Given the description of an element on the screen output the (x, y) to click on. 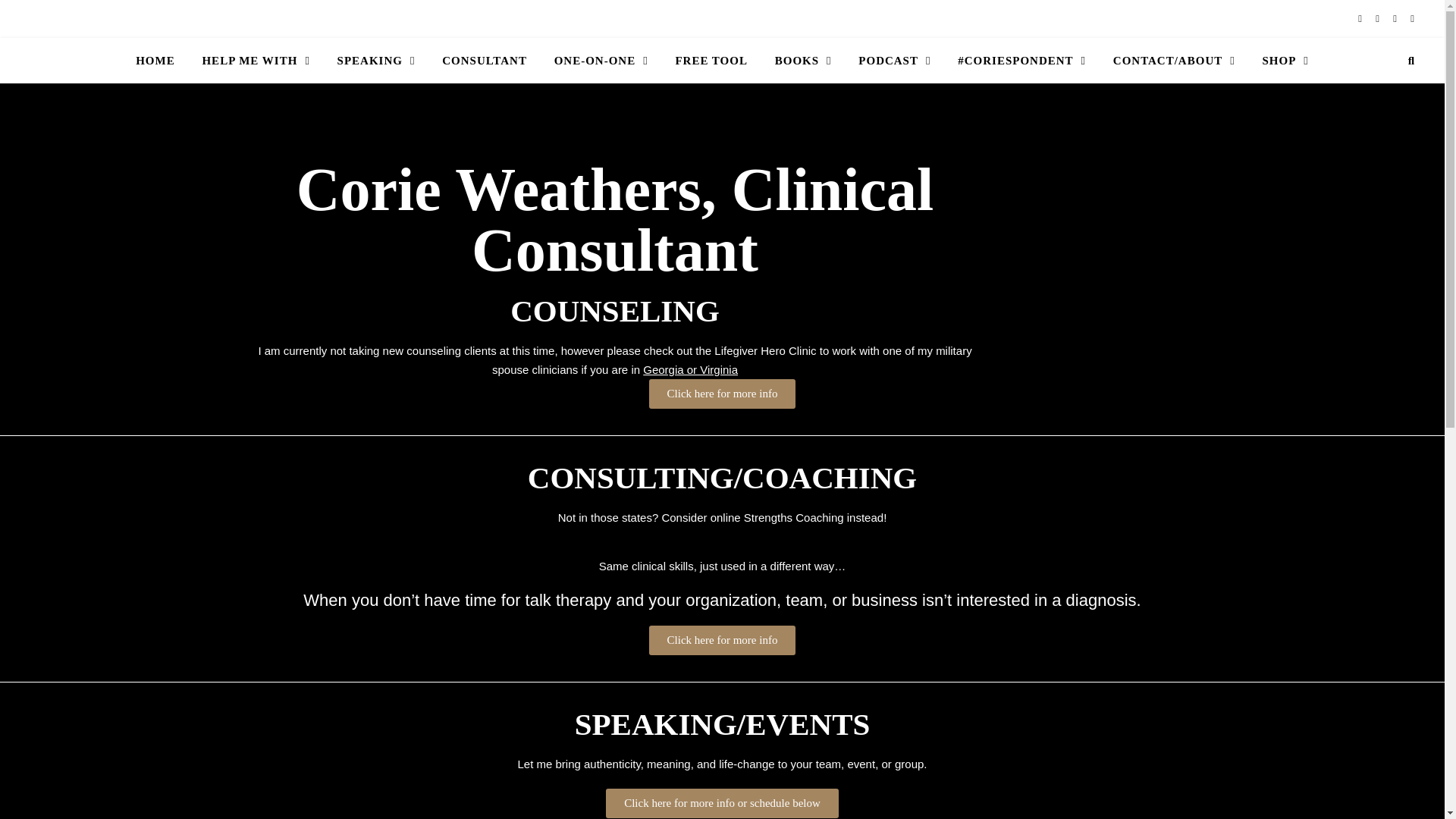
PODCAST (893, 60)
ONE-ON-ONE (601, 60)
HOME (161, 60)
CONSULTANT (483, 60)
FREE TOOL (711, 60)
BOOKS (803, 60)
SPEAKING (376, 60)
HELP ME WITH (255, 60)
